Given the description of an element on the screen output the (x, y) to click on. 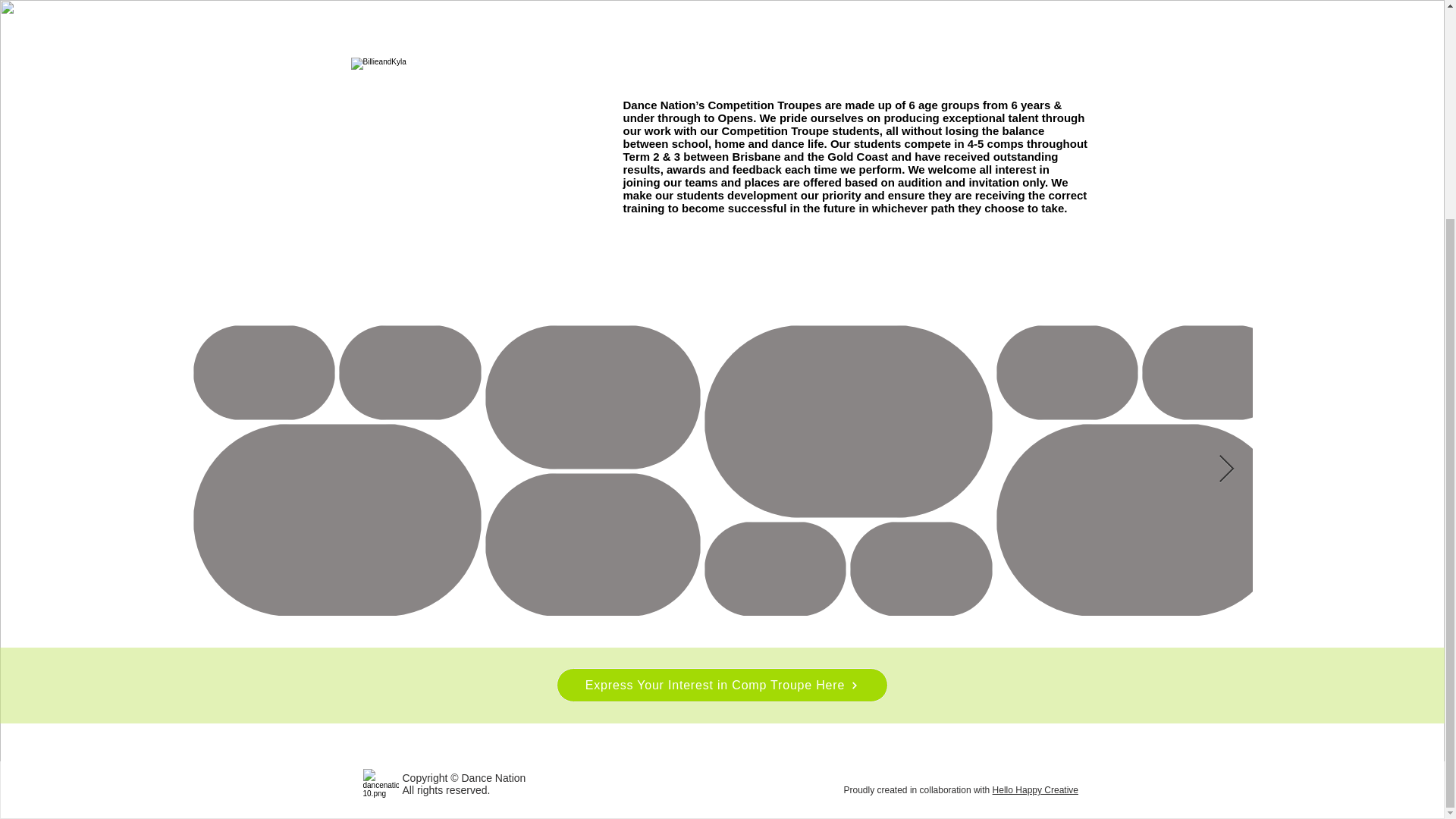
Hello Happy Creative (1035, 789)
Express Your Interest in Comp Troupe Here (722, 684)
